Given the description of an element on the screen output the (x, y) to click on. 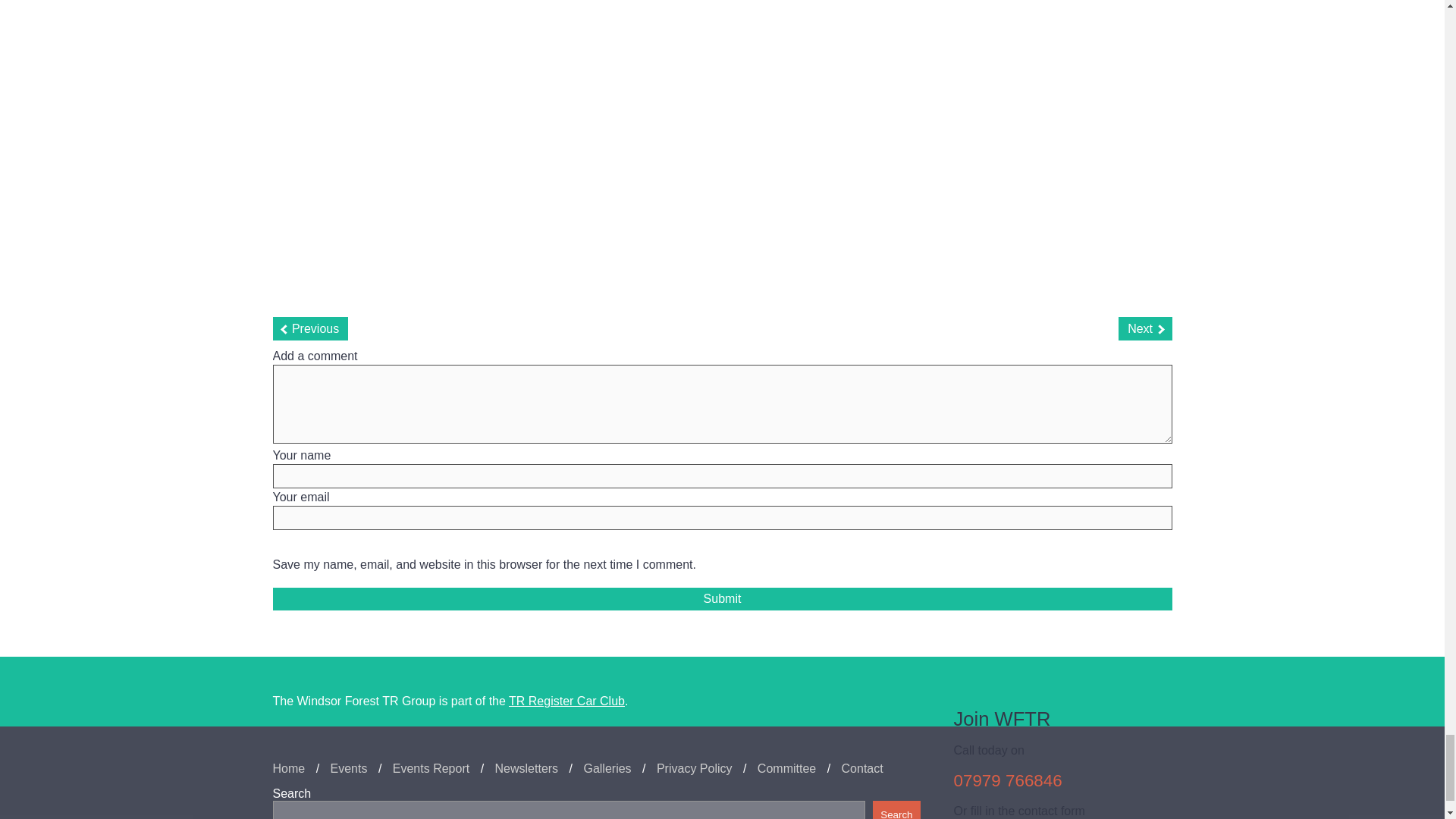
Galleries (606, 769)
Submit (722, 599)
Privacy Policy (694, 769)
Committee (786, 769)
Submit (722, 599)
Newsletters (527, 769)
Previous (311, 328)
TR Register Car Club (566, 700)
Events (349, 769)
